Given the description of an element on the screen output the (x, y) to click on. 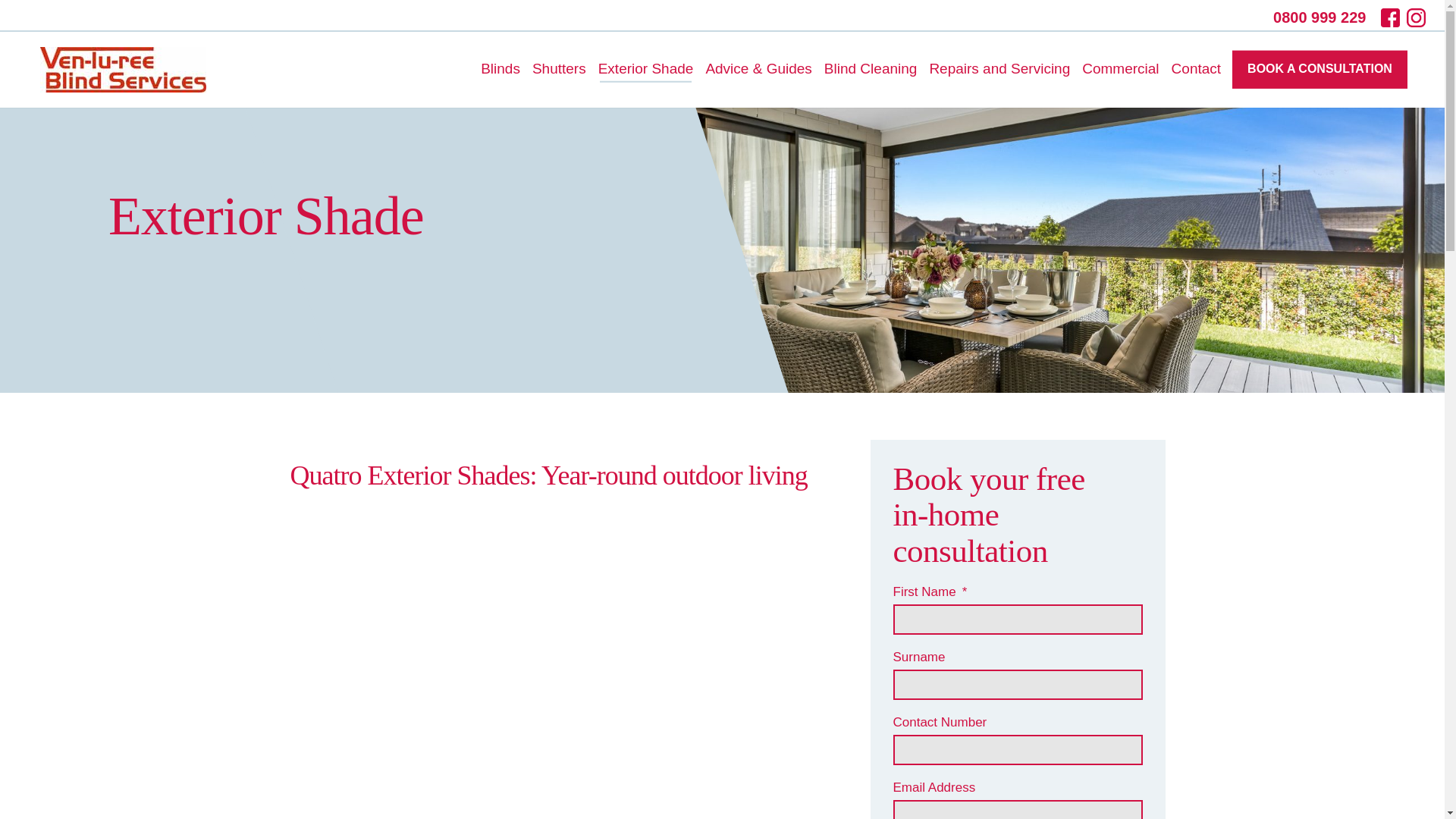
Exterior Shade (646, 69)
Book a Consultation (1319, 69)
BOOK A CONSULTATION (1319, 69)
Exterior Shade (646, 69)
Commercial (1119, 69)
Repairs and Servicing (999, 69)
0800 999 229 (1324, 17)
Commercial (1119, 69)
Blind Cleaning (870, 69)
Repairs and Servicing (999, 69)
